Given the description of an element on the screen output the (x, y) to click on. 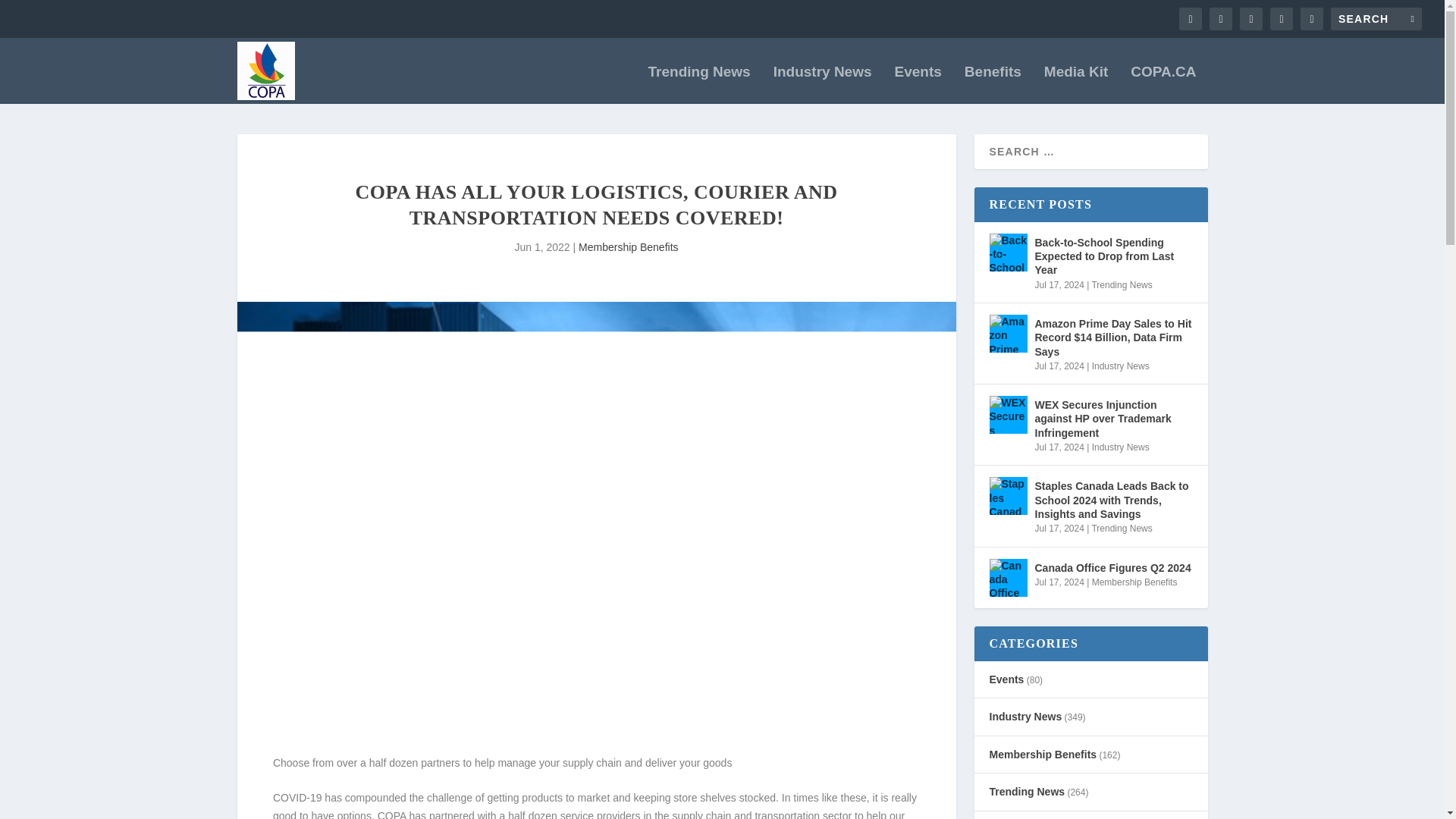
Benefits (992, 85)
Trending News (699, 85)
Membership Benefits (628, 246)
Industry News (822, 85)
Events (918, 85)
Media Kit (1075, 85)
Search for: (1376, 18)
COPA.CA (1163, 85)
